Given the description of an element on the screen output the (x, y) to click on. 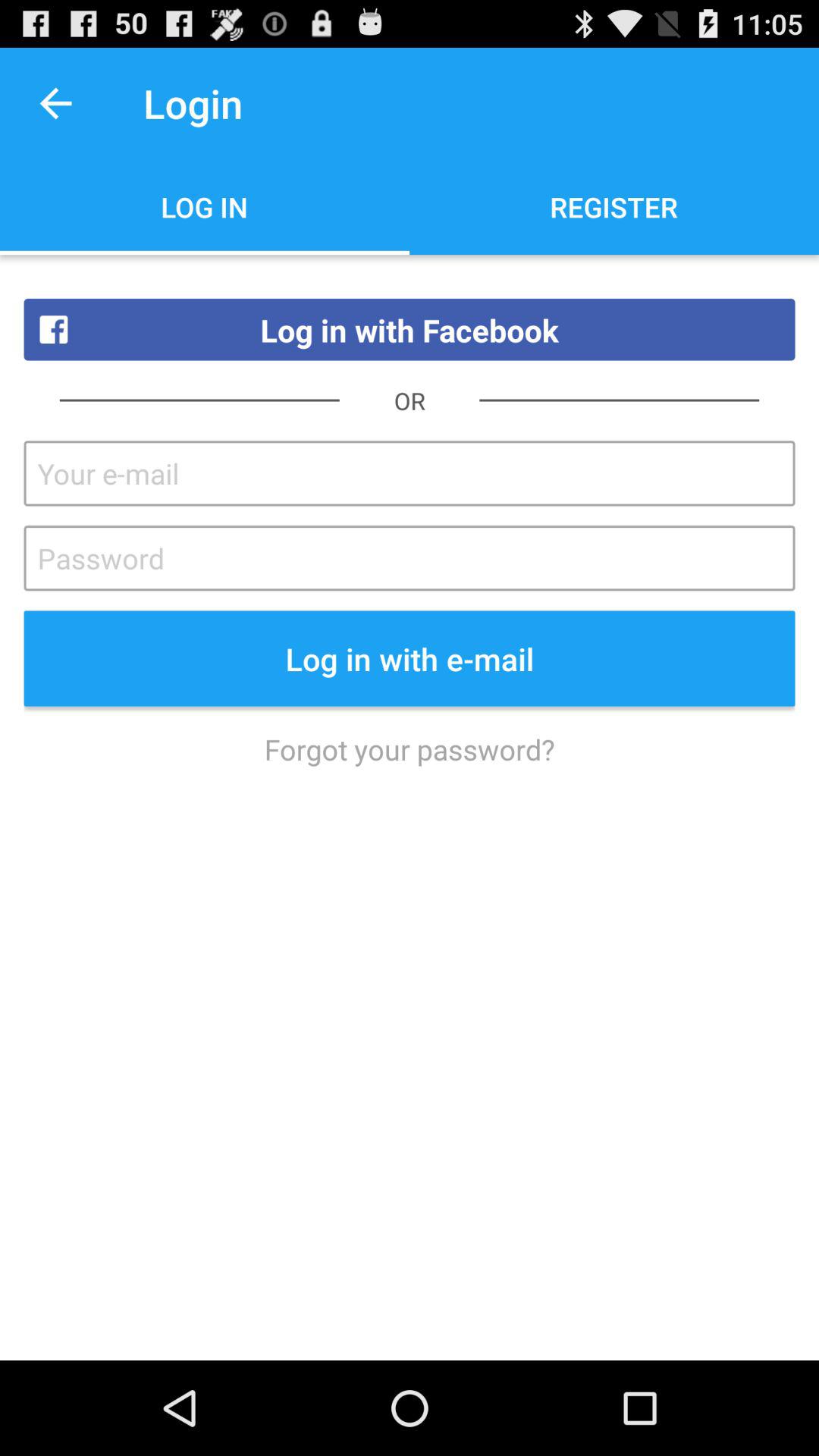
toggle facebook login (409, 473)
